Given the description of an element on the screen output the (x, y) to click on. 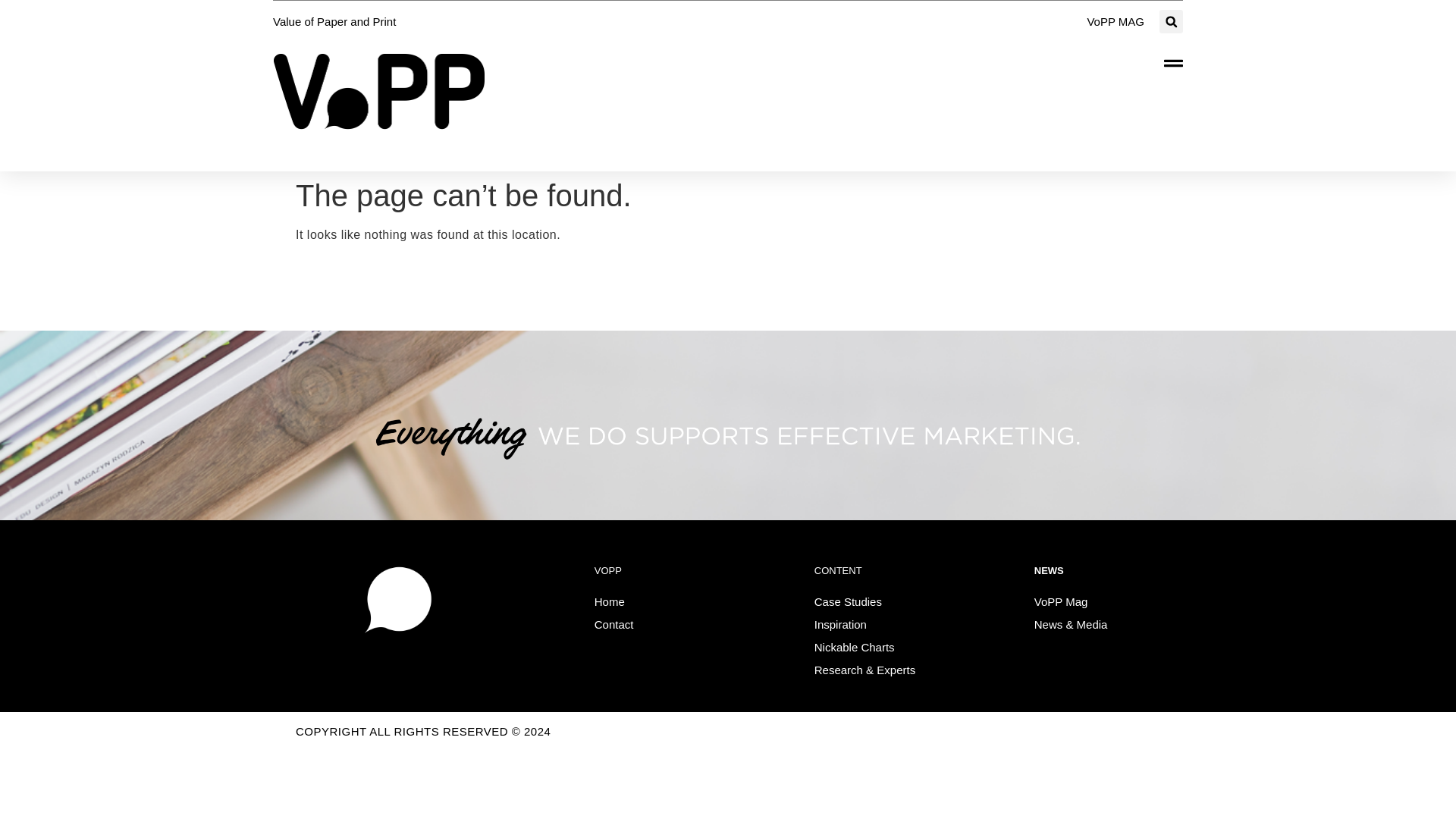
VoPP Mag (1068, 601)
Nickable Charts (861, 647)
VoPP MAG (1115, 21)
Case Studies (854, 601)
Inspiration (847, 624)
Home (617, 601)
Contact (621, 624)
